Given the description of an element on the screen output the (x, y) to click on. 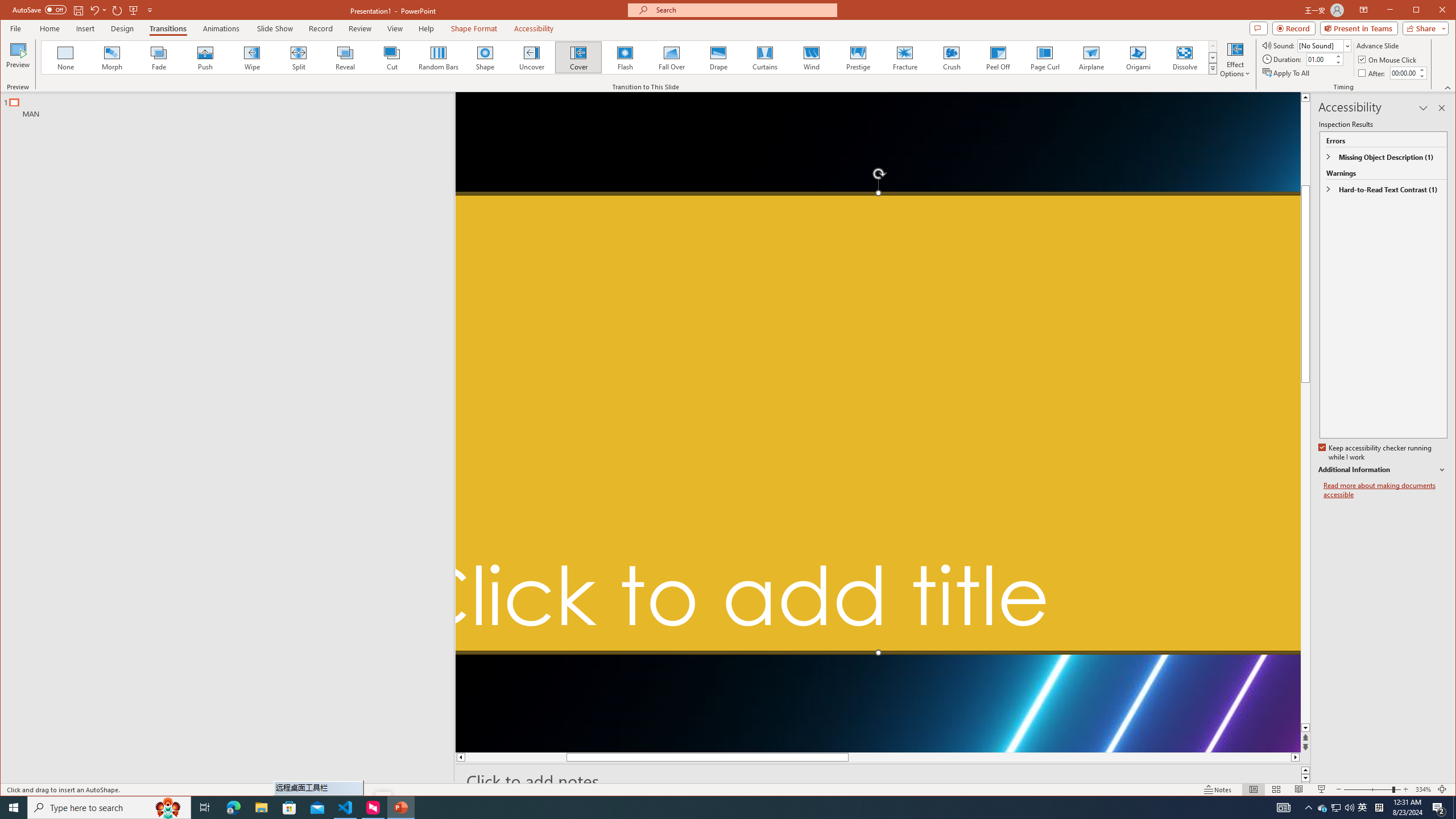
Fade (158, 57)
Zoom 334% (1422, 789)
Microsoft Edge (233, 807)
